Given the description of an element on the screen output the (x, y) to click on. 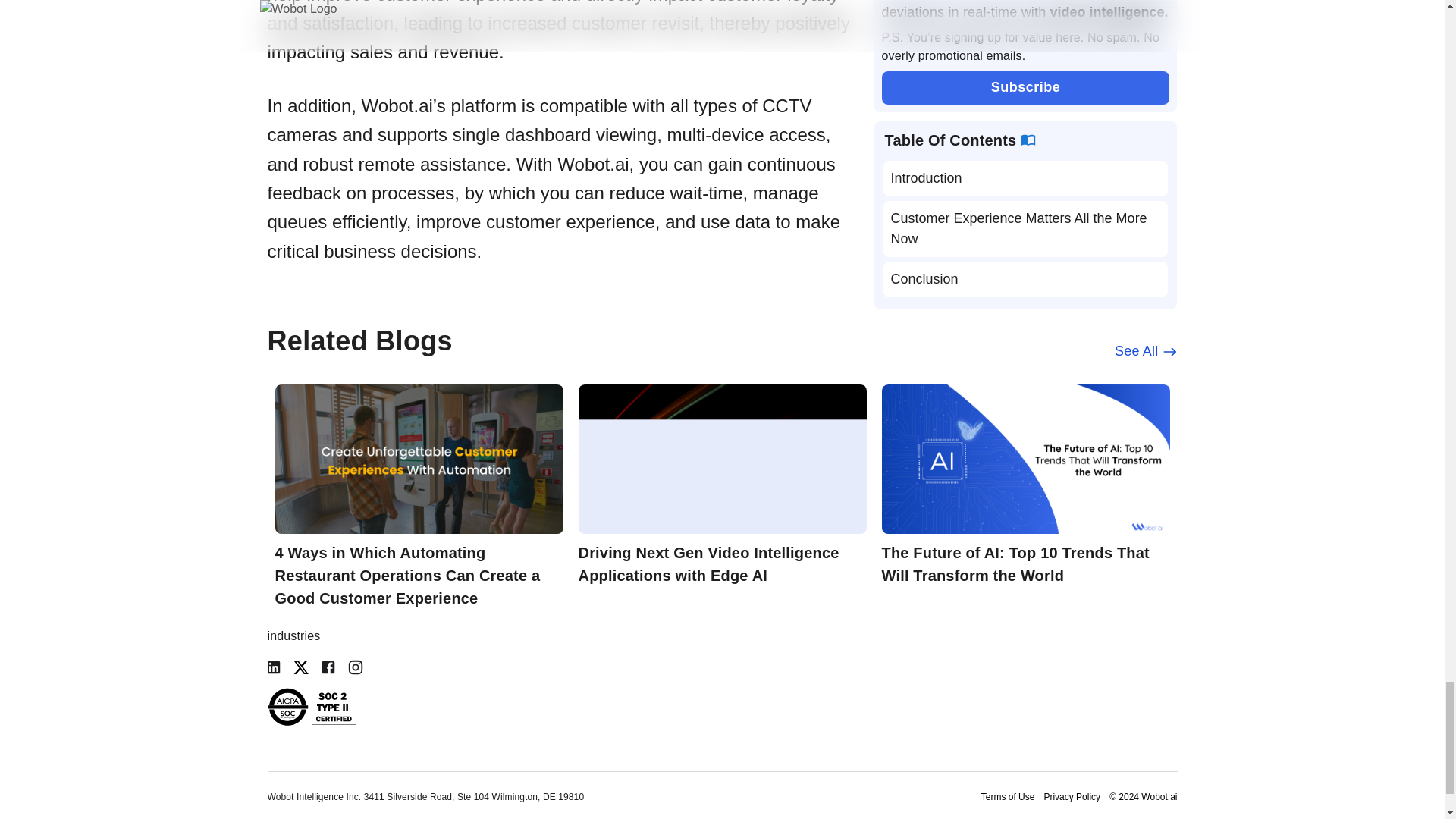
See all Artificial Intelligence related blogs (1145, 351)
